Given the description of an element on the screen output the (x, y) to click on. 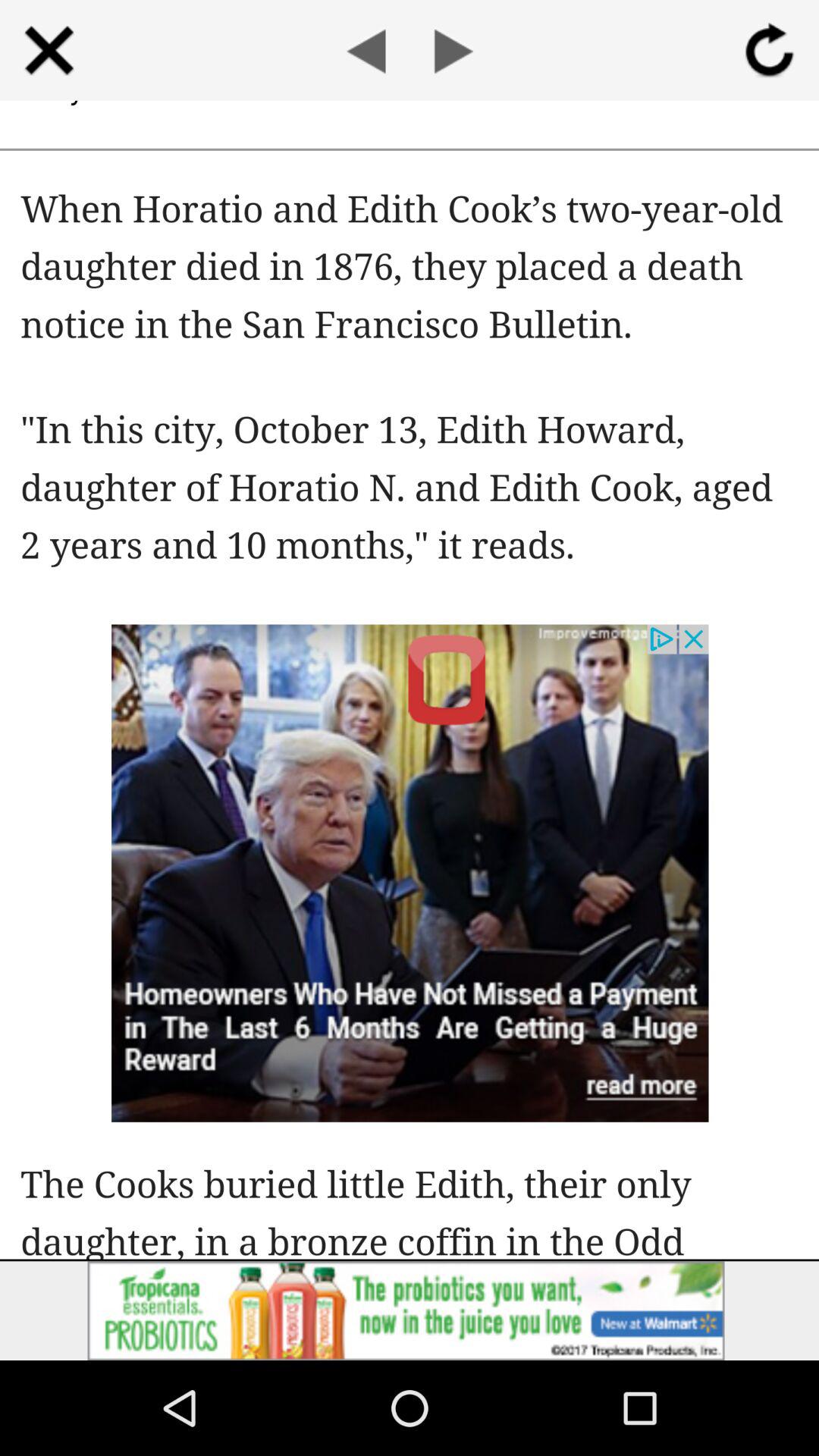
go forward (453, 49)
